Given the description of an element on the screen output the (x, y) to click on. 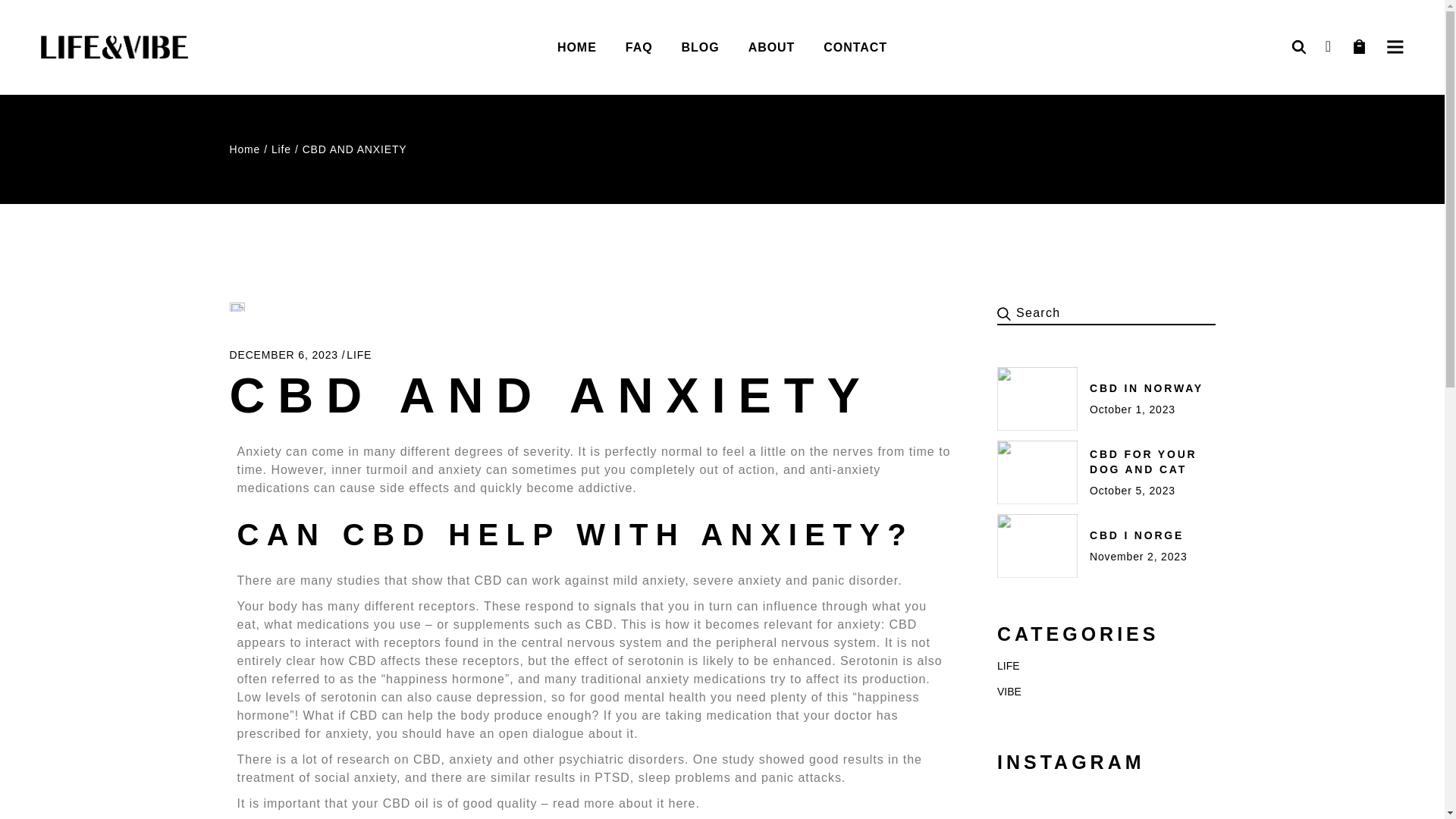
CBD I NORGE (1136, 535)
Life (280, 149)
CBD IN NORWAY (1146, 387)
CBD FOR YOUR DOG AND CAT (1142, 461)
DECEMBER 6, 2023 (284, 354)
LIFE (358, 354)
LIFE (1008, 665)
Home (244, 149)
October 1, 2023 (1131, 409)
November 2, 2023 (1138, 556)
